Given the description of an element on the screen output the (x, y) to click on. 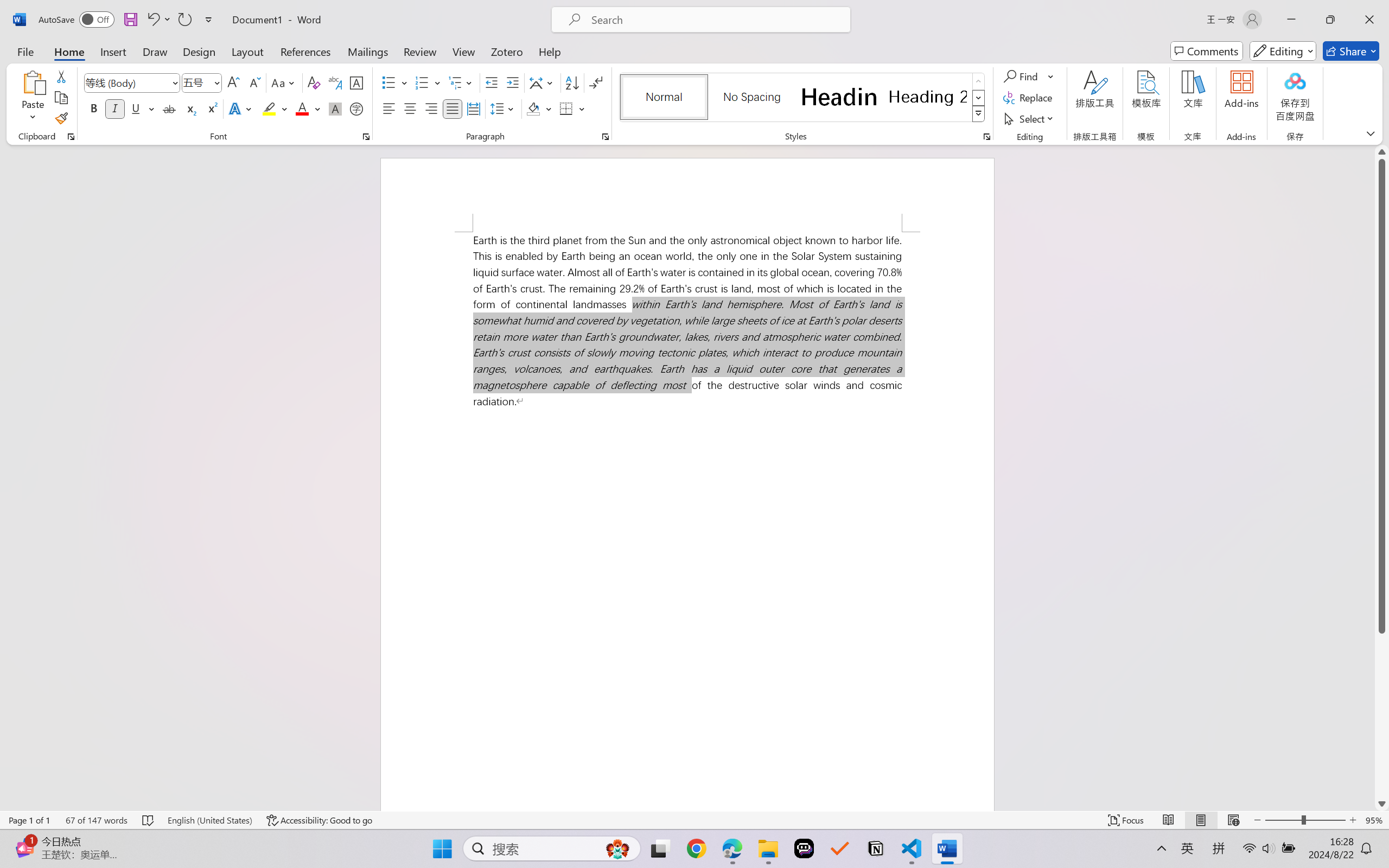
Class: MsoCommandBar (694, 819)
Text Highlight Color (274, 108)
Align Left (388, 108)
Styles (978, 113)
Copy (60, 97)
Paragraph... (605, 136)
Italic (115, 108)
AutomationID: QuickStylesGallery (802, 97)
